Given the description of an element on the screen output the (x, y) to click on. 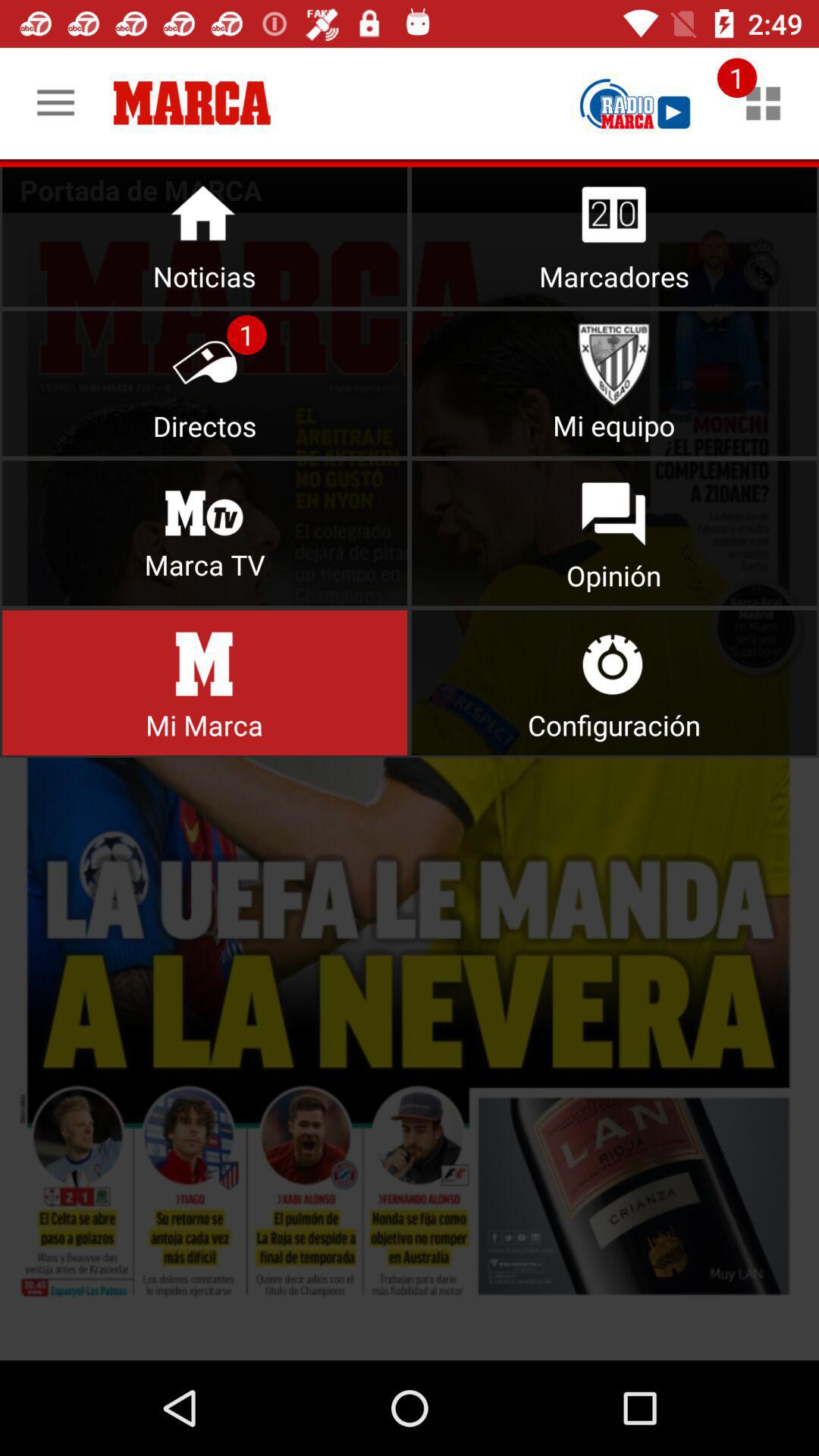
check notification (763, 103)
